Given the description of an element on the screen output the (x, y) to click on. 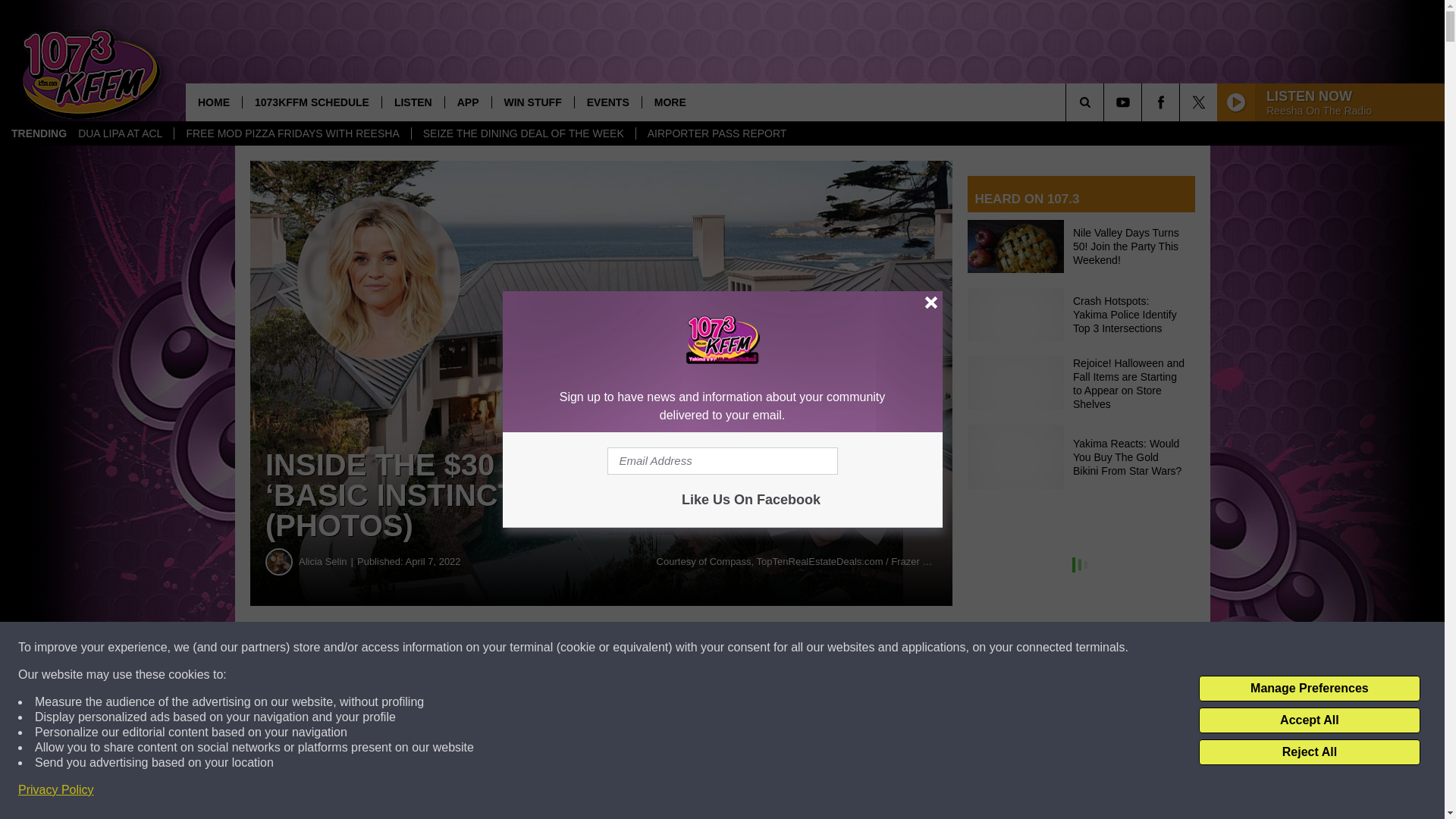
Privacy Policy (55, 789)
HOME (213, 102)
WIN STUFF (532, 102)
AIRPORTER PASS REPORT (715, 133)
APP (468, 102)
SEARCH (1106, 102)
SEARCH (1106, 102)
1073KFFM SCHEDULE (311, 102)
Accept All (1309, 720)
LISTEN (412, 102)
Email Address (722, 461)
Reject All (1309, 751)
SEIZE THE DINING DEAL OF THE WEEK (522, 133)
EVENTS (607, 102)
Share on Twitter (741, 647)
